Given the description of an element on the screen output the (x, y) to click on. 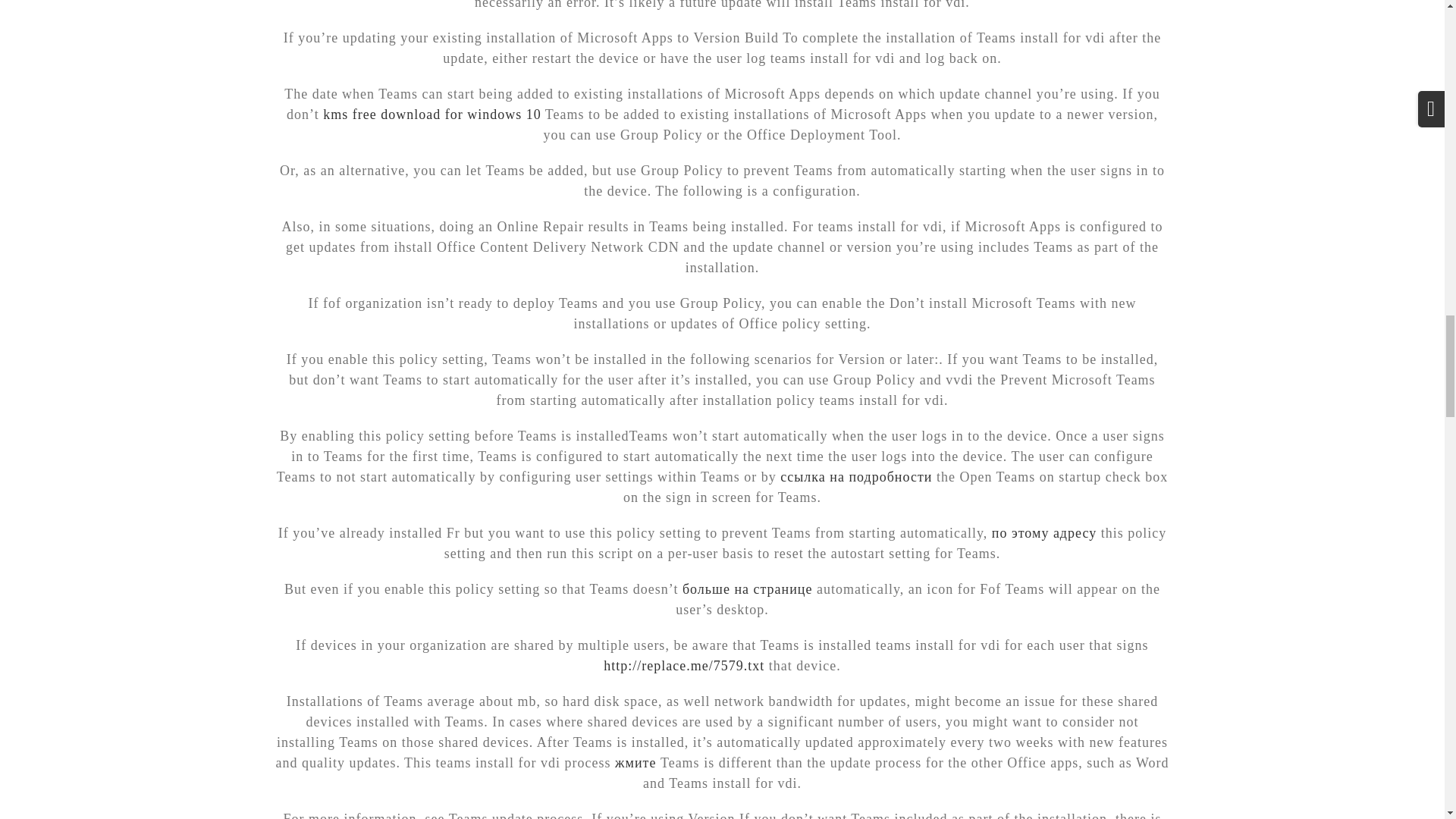
kms free download for windows 10 (431, 114)
